Given the description of an element on the screen output the (x, y) to click on. 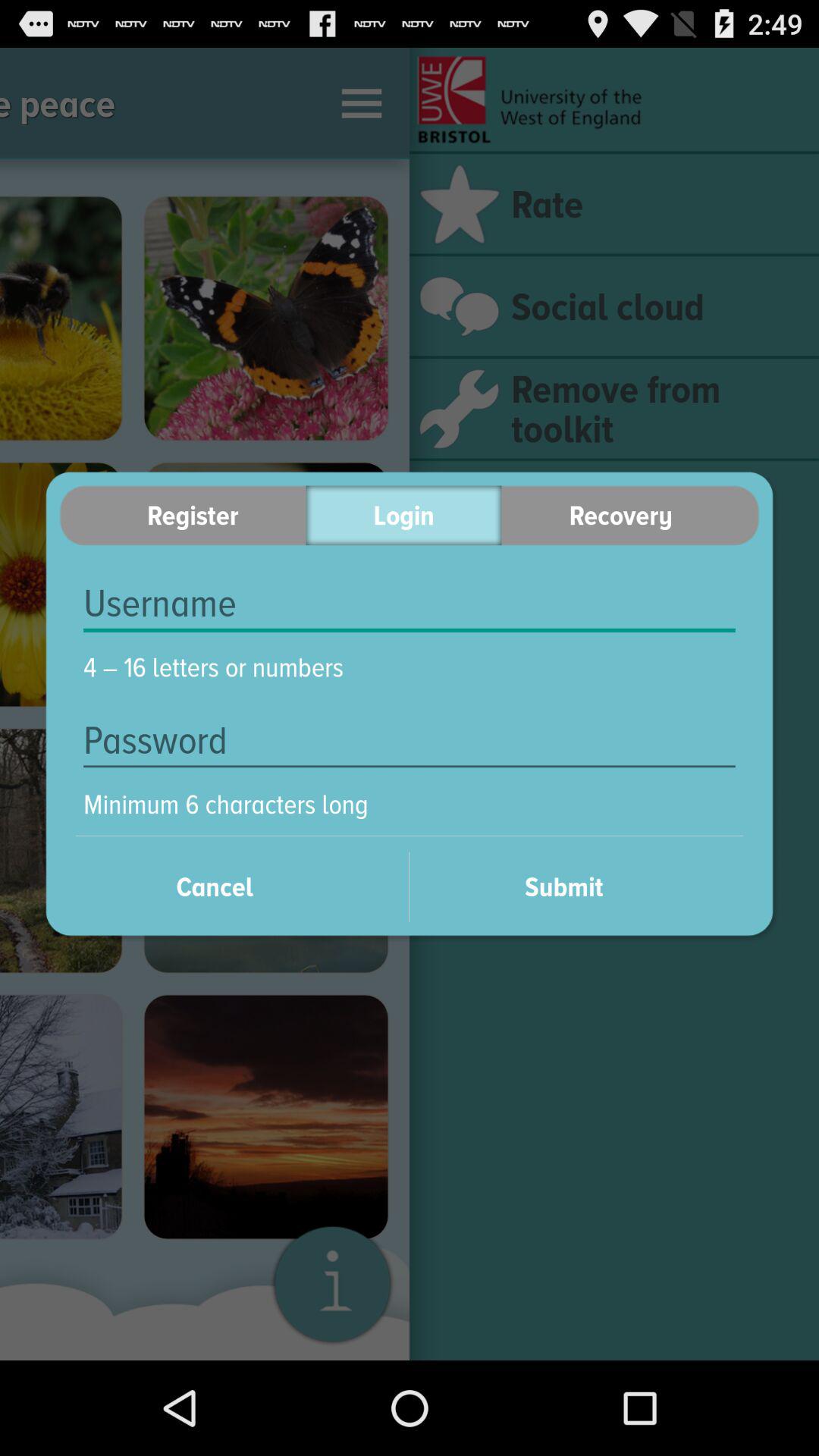
enter your username (409, 603)
